Given the description of an element on the screen output the (x, y) to click on. 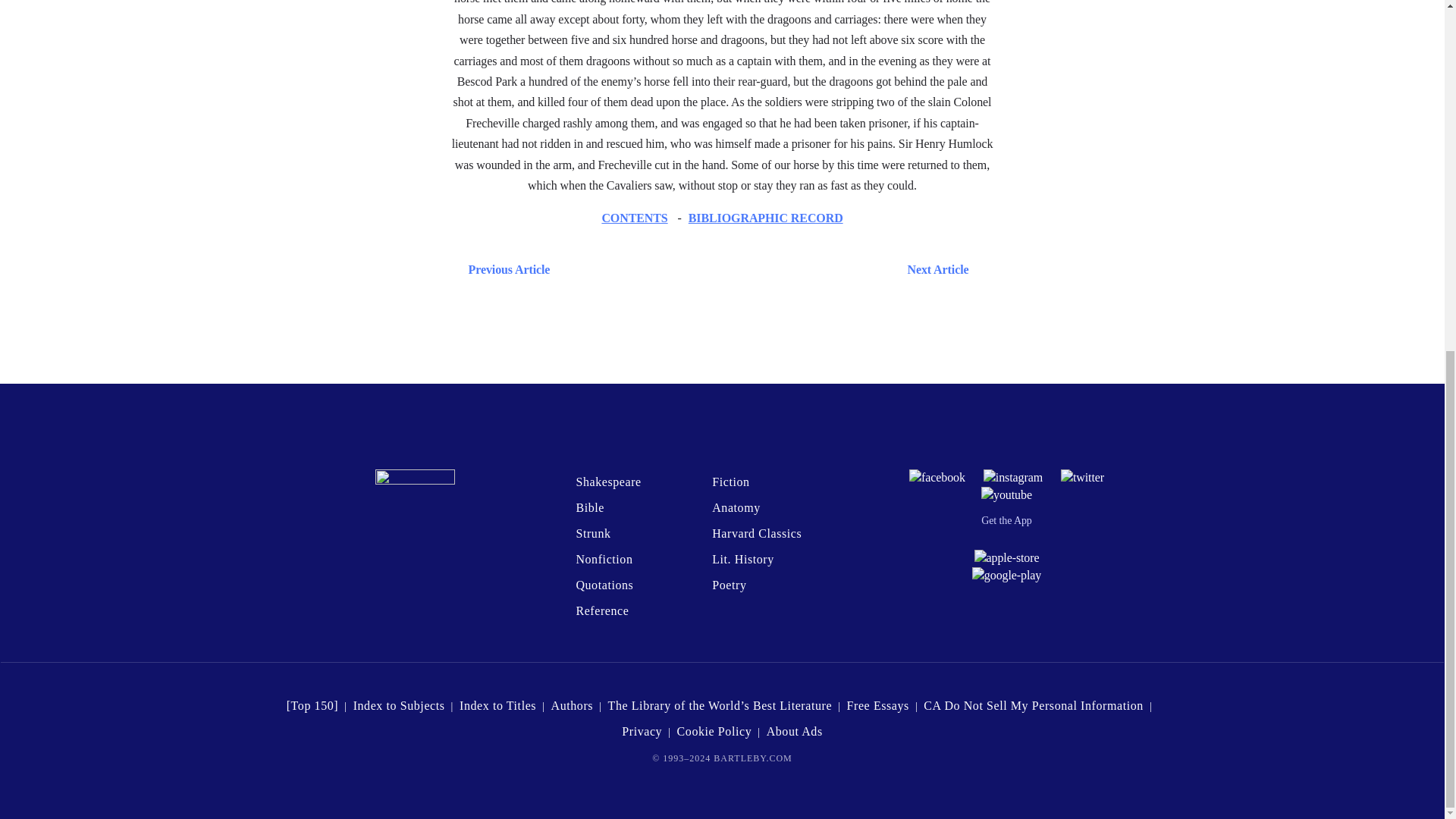
Shakespeare (607, 481)
CONTENTS (633, 217)
Harvard Classics (756, 533)
Previous Article (505, 269)
Bible (589, 507)
Quotations (604, 584)
Reference (601, 610)
Nonfiction (603, 558)
Anatomy (735, 507)
Strunk (592, 533)
